Given the description of an element on the screen output the (x, y) to click on. 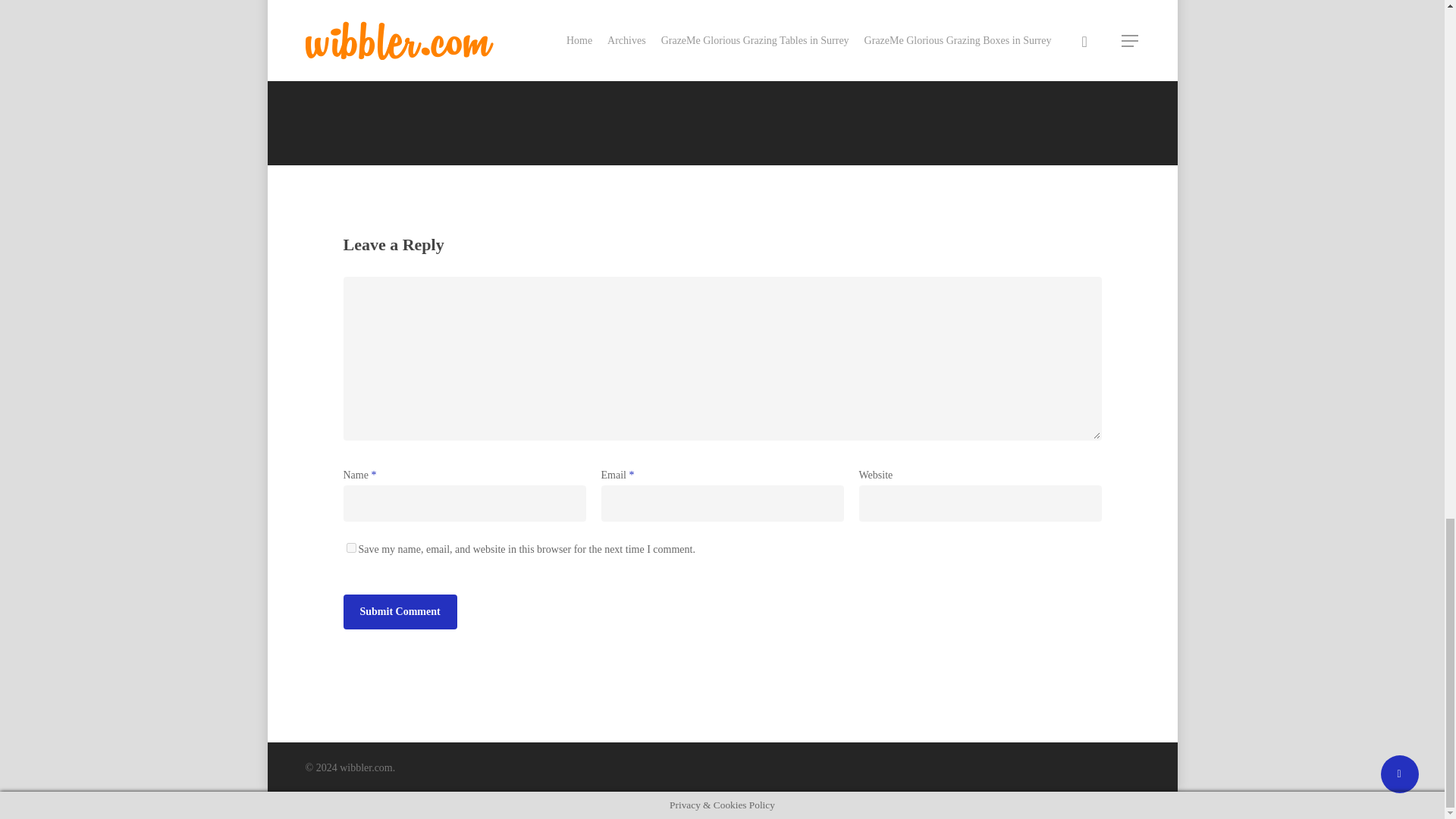
Submit Comment (399, 611)
yes (350, 547)
Submit Comment (399, 611)
